Given the description of an element on the screen output the (x, y) to click on. 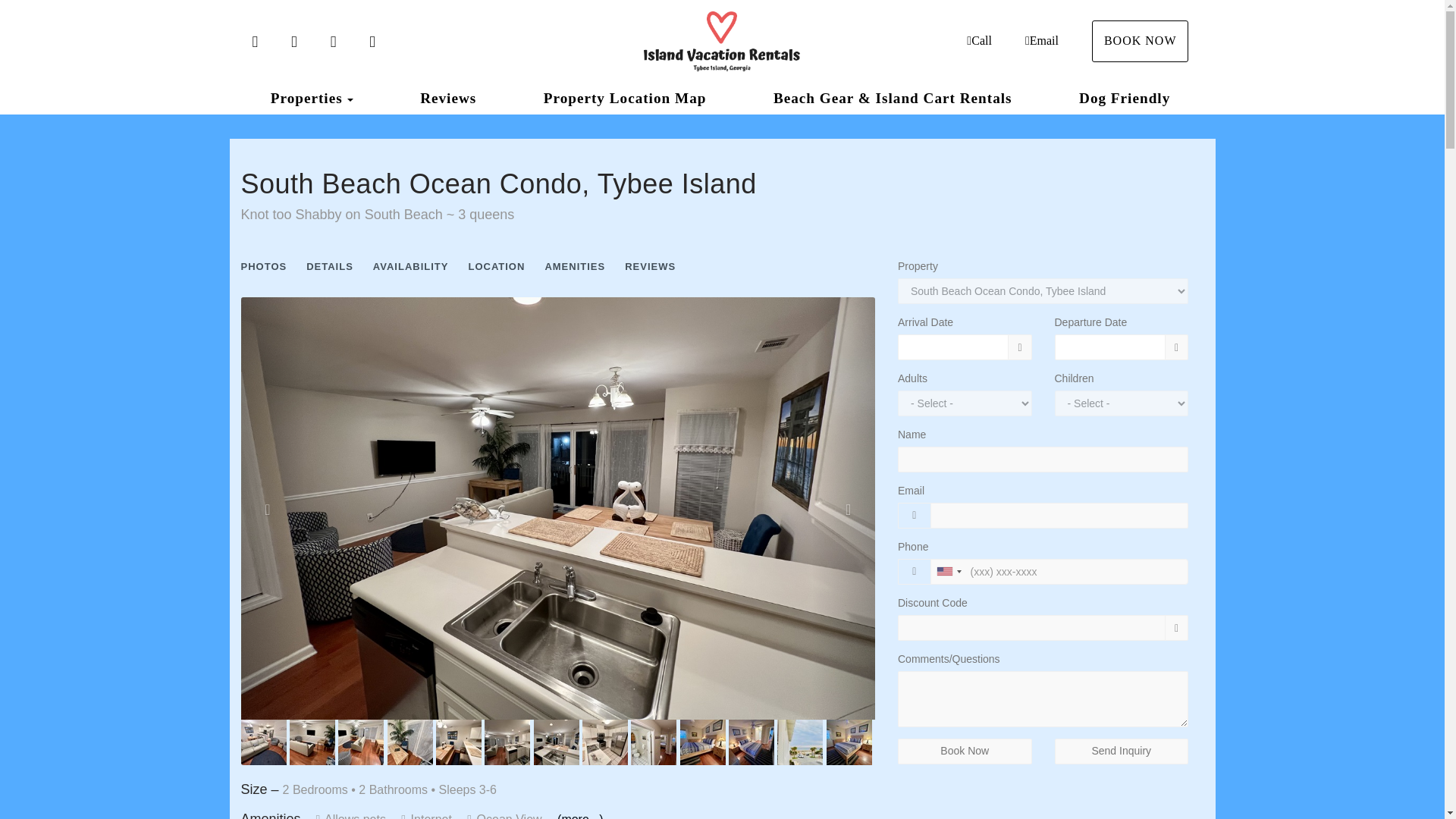
Call (978, 40)
BOOK NOW (1140, 41)
Properties (306, 98)
Email (1041, 40)
Island Vacation Rentals (722, 41)
